Given the description of an element on the screen output the (x, y) to click on. 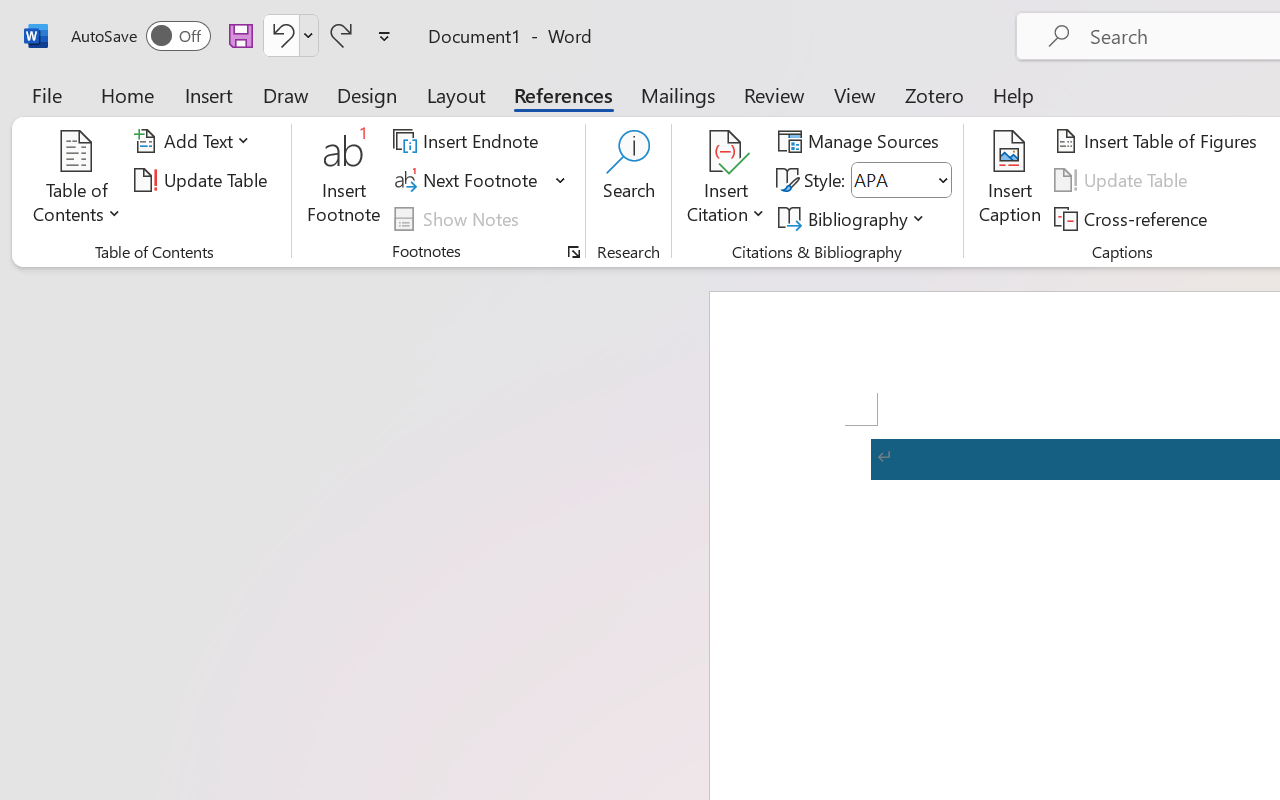
Bibliography (854, 218)
Insert Caption... (1009, 180)
Show Notes (459, 218)
Search (628, 179)
Update Table (1124, 179)
Insert Endnote (468, 141)
Table of Contents (77, 179)
